Given the description of an element on the screen output the (x, y) to click on. 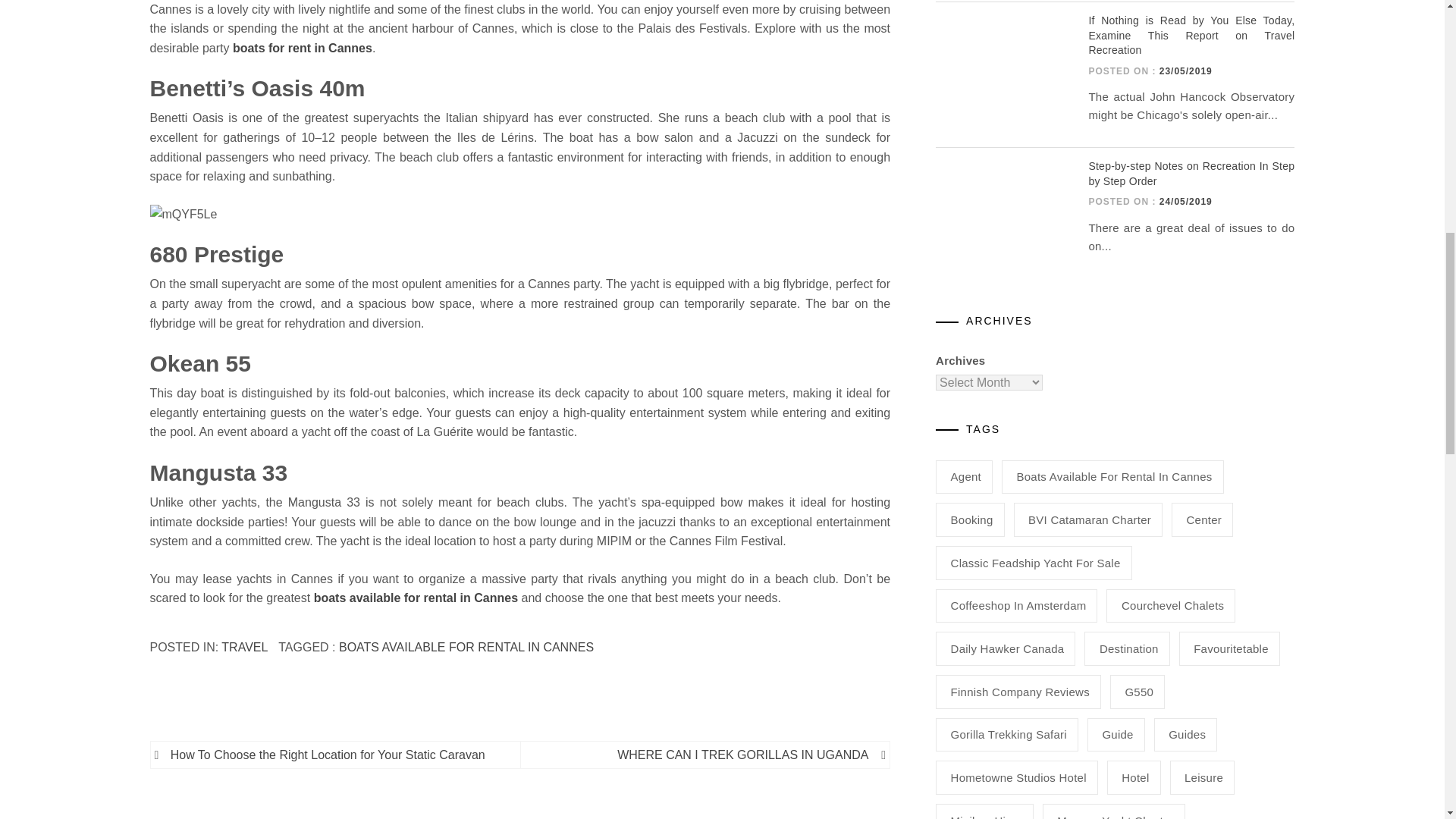
TRAVEL (243, 646)
How To Choose the Right Location for Your Static Caravan (337, 754)
BOATS AVAILABLE FOR RENTAL IN CANNES (466, 646)
boats available for rental in Cannes (416, 597)
Step-by-step Notes on Recreation In Step by Step Order (1000, 194)
boats for rent in Cannes (302, 47)
WHERE CAN I TREK GORILLAS IN UGANDA (702, 754)
The best party boats in Cannes (520, 214)
